Given the description of an element on the screen output the (x, y) to click on. 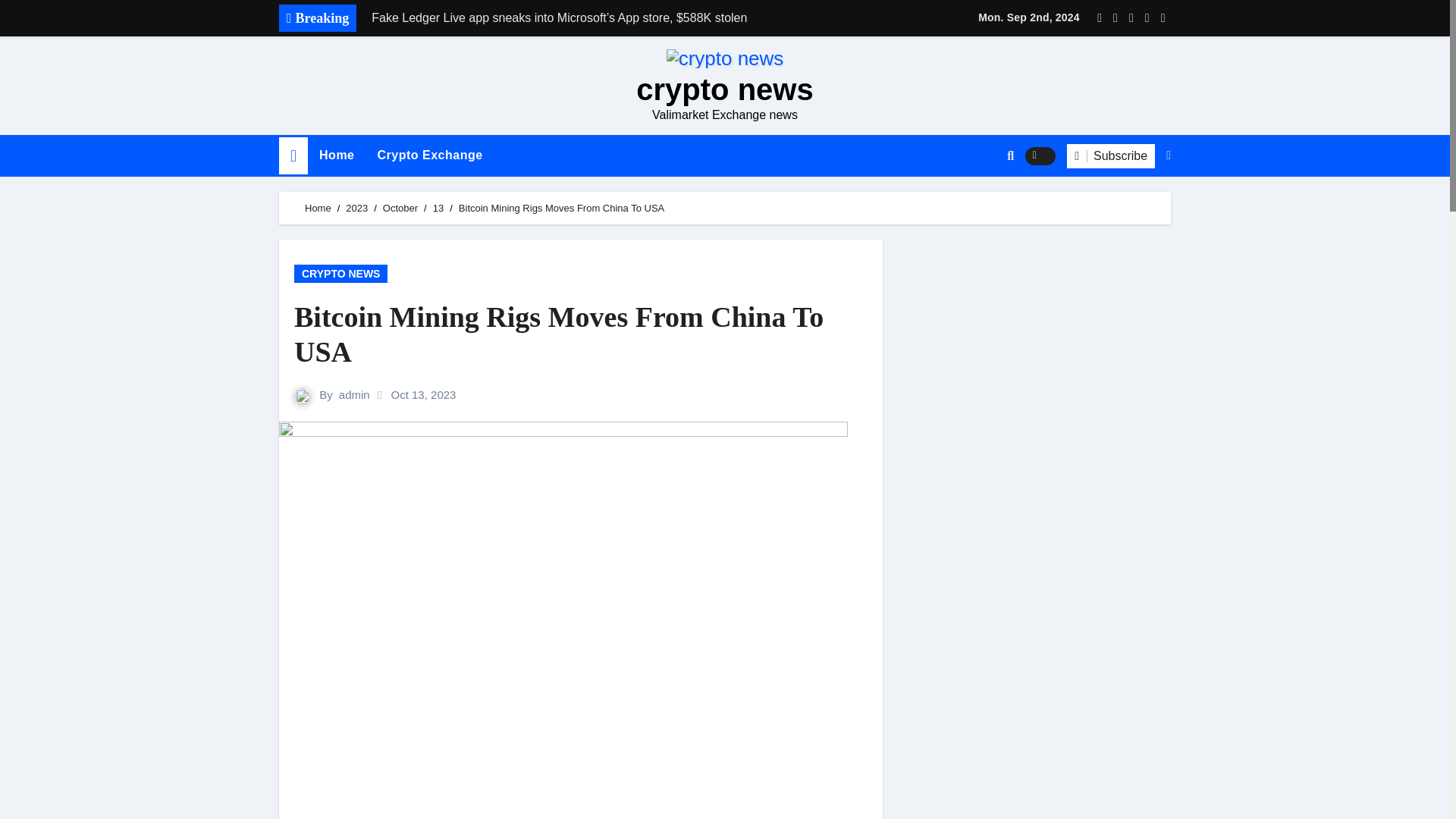
October (399, 207)
Home (336, 155)
13 (438, 207)
Subscribe (1110, 156)
Home (336, 155)
crypto news (724, 89)
Crypto Exchange (429, 155)
CRYPTO NEWS (340, 273)
admin (354, 394)
Permalink to: Bitcoin Mining Rigs Moves From China To USA (559, 334)
